Given the description of an element on the screen output the (x, y) to click on. 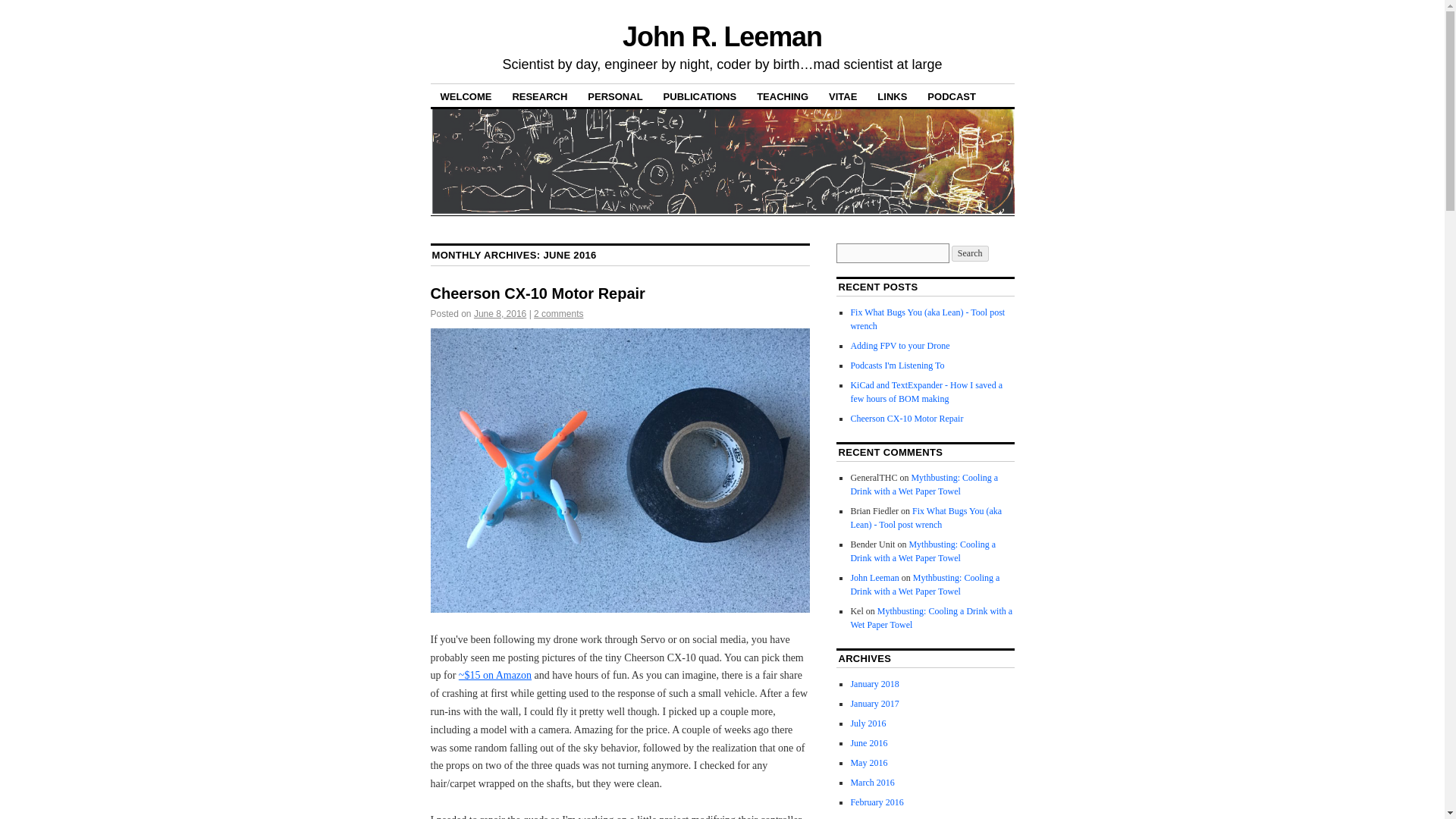
Cheerson CX-10 Motor Repair (537, 293)
Podcasts I'm Listening To (896, 365)
Search (970, 253)
PODCAST (951, 96)
2 comments (558, 313)
Mythbusting: Cooling a Drink with a Wet Paper Towel (923, 484)
RESEARCH (539, 96)
June 8, 2016 (499, 313)
12:23 am (499, 313)
John R. Leeman (722, 36)
Mythbusting: Cooling a Drink with a Wet Paper Towel (922, 550)
John Leeman (874, 577)
John R. Leeman (722, 36)
Cheerson CX-10 Motor Repair (906, 418)
LINKS (892, 96)
